Given the description of an element on the screen output the (x, y) to click on. 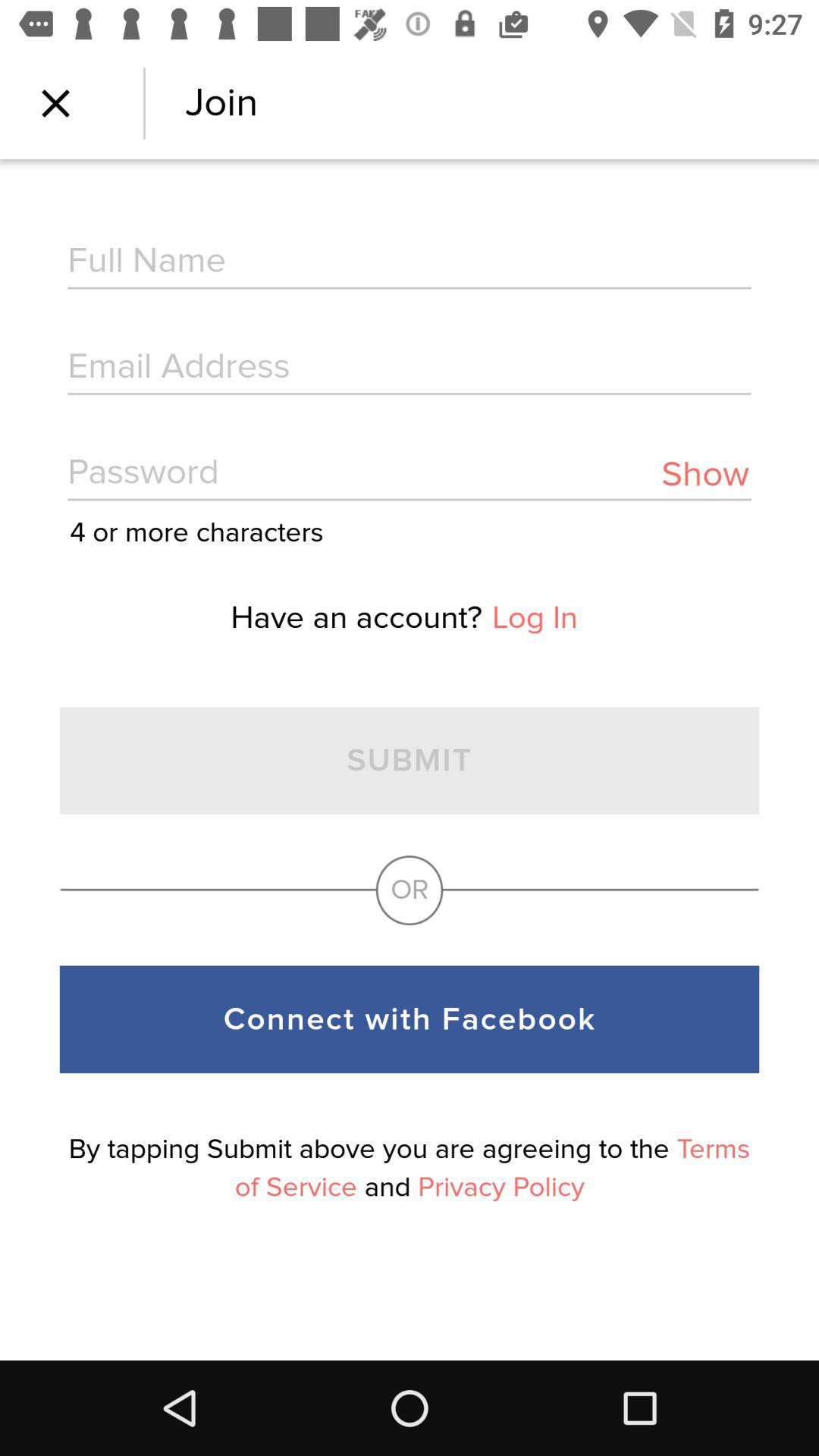
press the icon to the right of the 4 or more icon (705, 474)
